Given the description of an element on the screen output the (x, y) to click on. 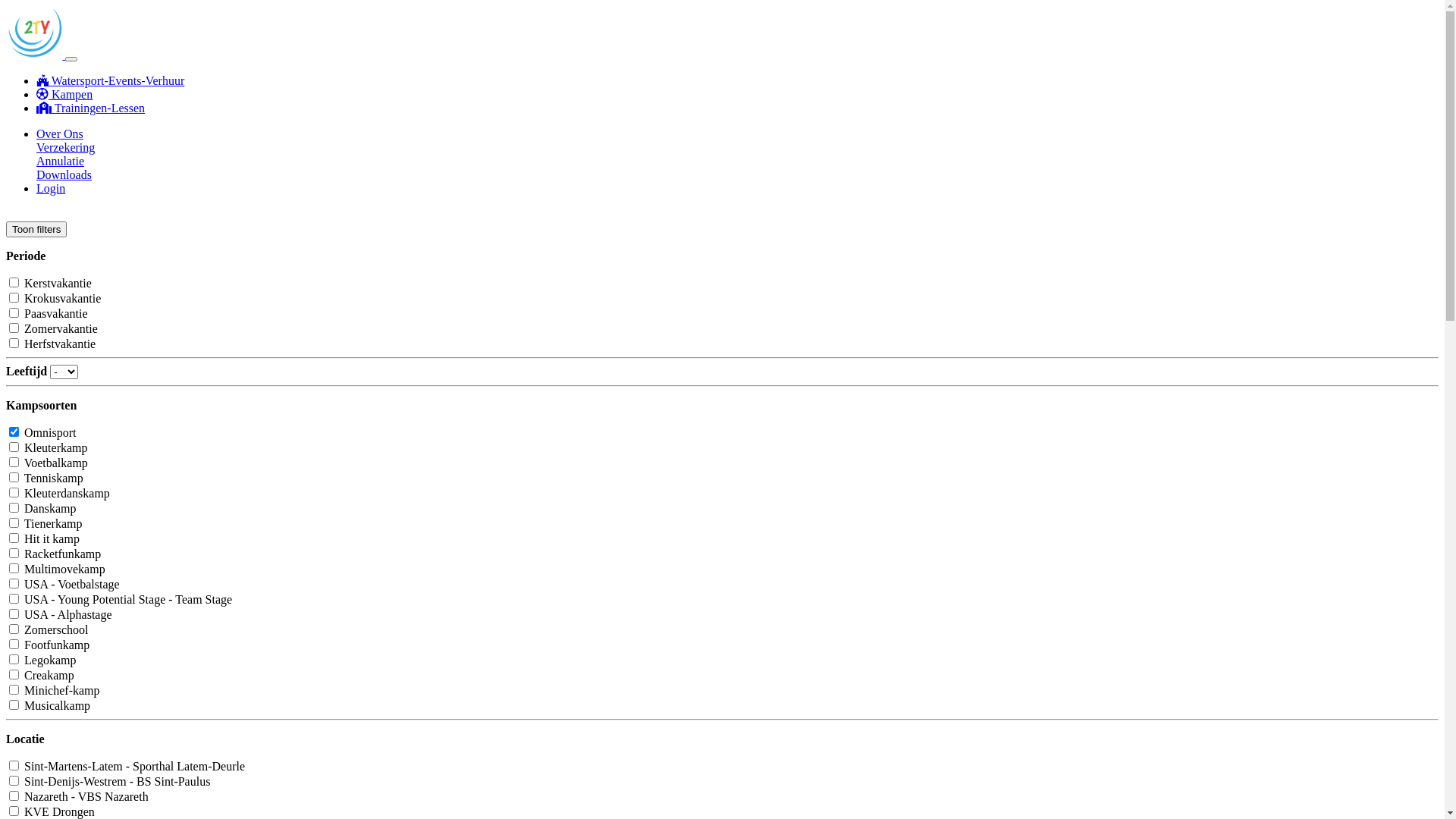
on Element type: text (13, 343)
on Element type: text (13, 644)
Downloads Element type: text (63, 174)
on Element type: text (13, 613)
Login Element type: text (50, 188)
on Element type: text (13, 507)
on Element type: text (13, 598)
on Element type: text (13, 659)
on Element type: text (13, 522)
on Element type: text (13, 477)
Toon filters Element type: text (36, 229)
on Element type: text (13, 312)
on Element type: text (13, 537)
Over Ons Element type: text (59, 133)
Kampen Element type: text (64, 93)
on Element type: text (13, 583)
on Element type: text (13, 628)
Trainingen-Lessen Element type: text (90, 107)
on Element type: text (13, 780)
on Element type: text (13, 492)
on Element type: text (13, 674)
on Element type: text (13, 810)
Verzekering Element type: text (65, 147)
on Element type: text (13, 704)
on Element type: text (13, 327)
on Element type: text (13, 765)
on Element type: text (13, 446)
on Element type: text (13, 795)
on Element type: text (13, 689)
Annulatie Element type: text (60, 160)
on Element type: text (13, 553)
Watersport-Events-Verhuur Element type: text (110, 80)
on Element type: text (13, 462)
on Element type: text (13, 297)
on Element type: text (13, 431)
on Element type: text (13, 568)
on Element type: text (13, 282)
